Given the description of an element on the screen output the (x, y) to click on. 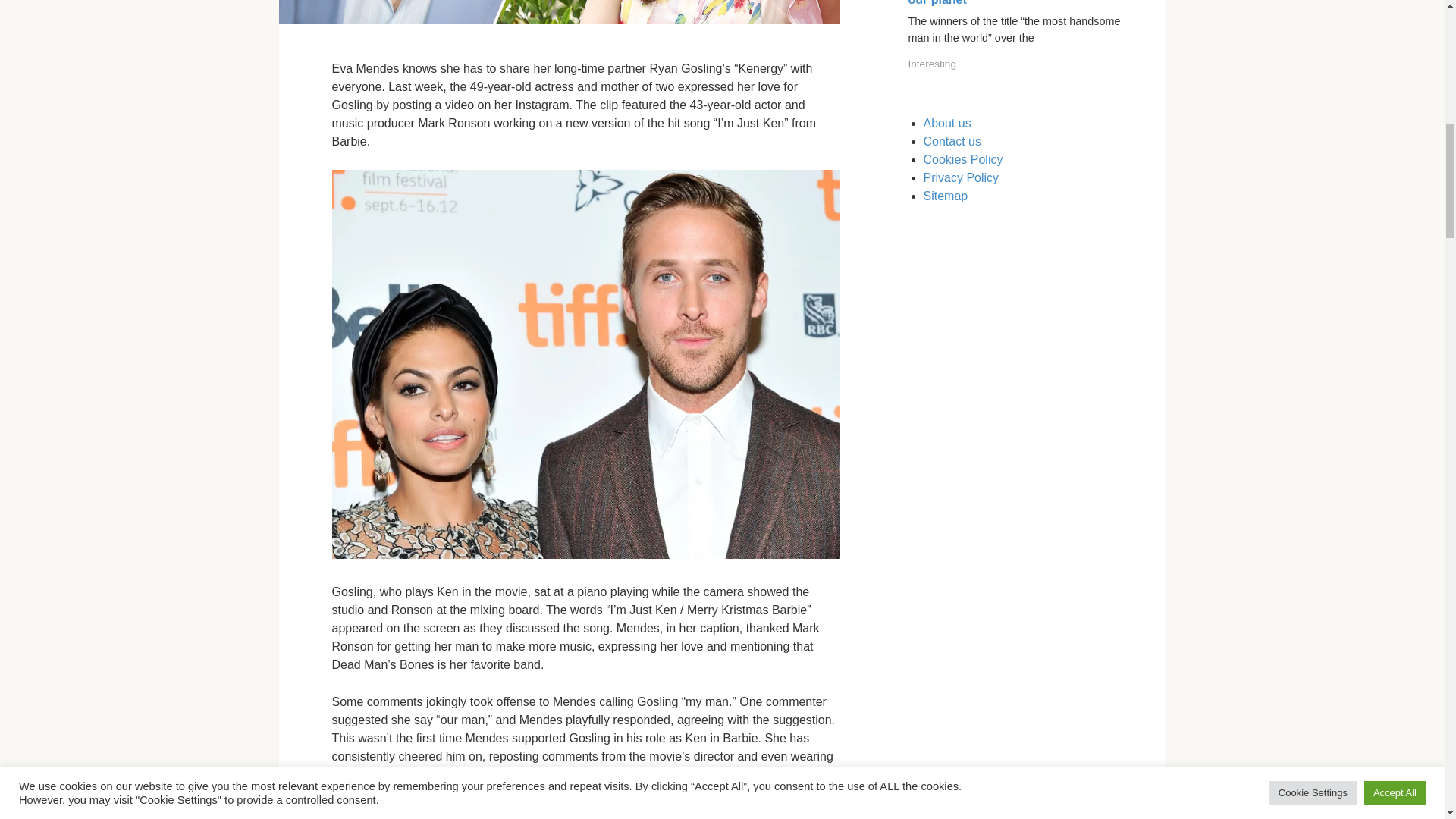
Sitemap (945, 195)
Privacy Policy (960, 177)
Cookies Policy (963, 159)
About us (947, 123)
Contact us (952, 141)
The most handsome famous men on our planet (1013, 2)
Interesting (932, 63)
